Given the description of an element on the screen output the (x, y) to click on. 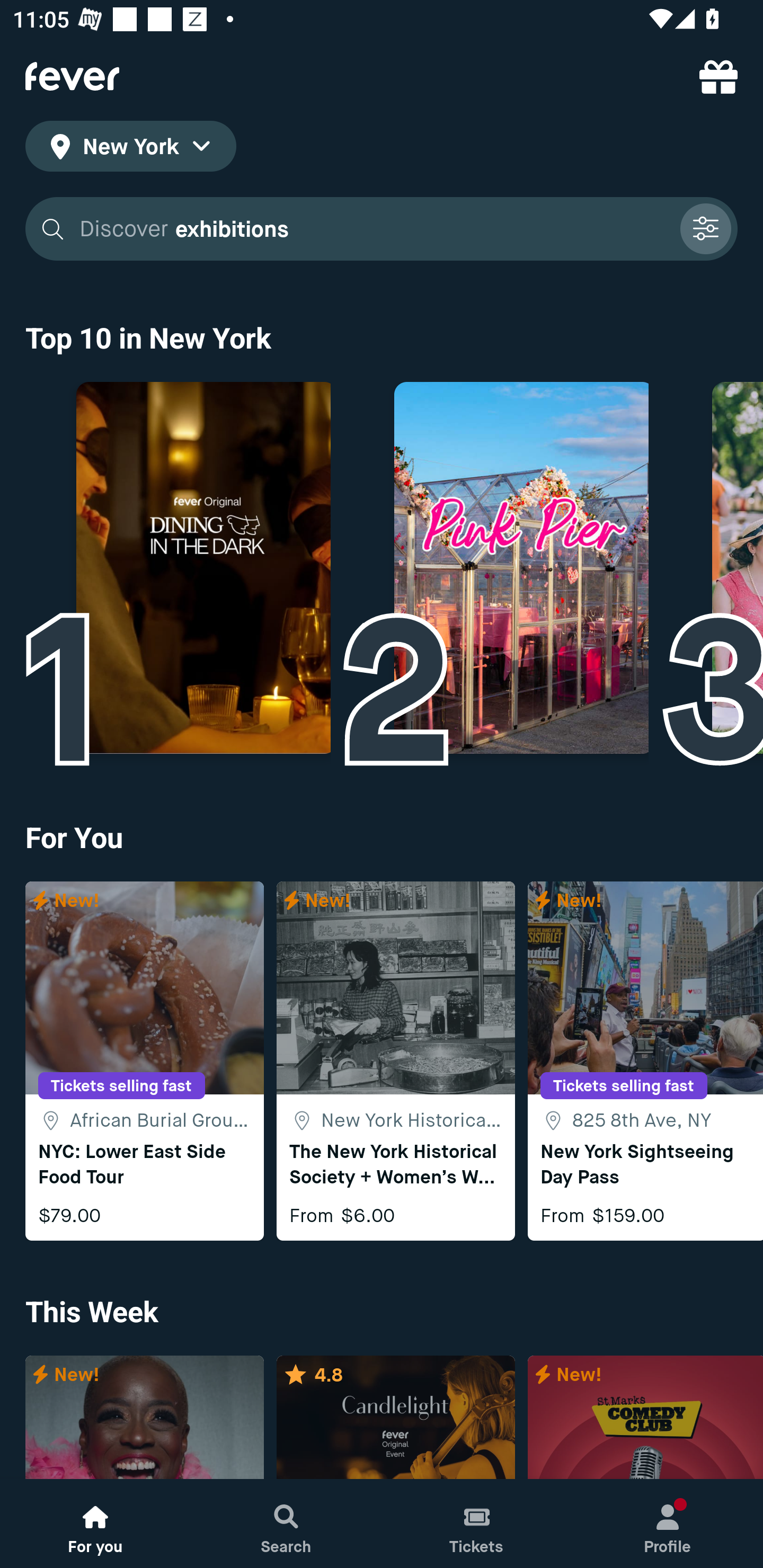
referral (718, 75)
location icon New York location icon (130, 149)
Discover exhibitions (381, 228)
Discover exhibitions (373, 228)
Search (285, 1523)
Tickets (476, 1523)
Profile, New notification Profile (667, 1523)
